Given the description of an element on the screen output the (x, y) to click on. 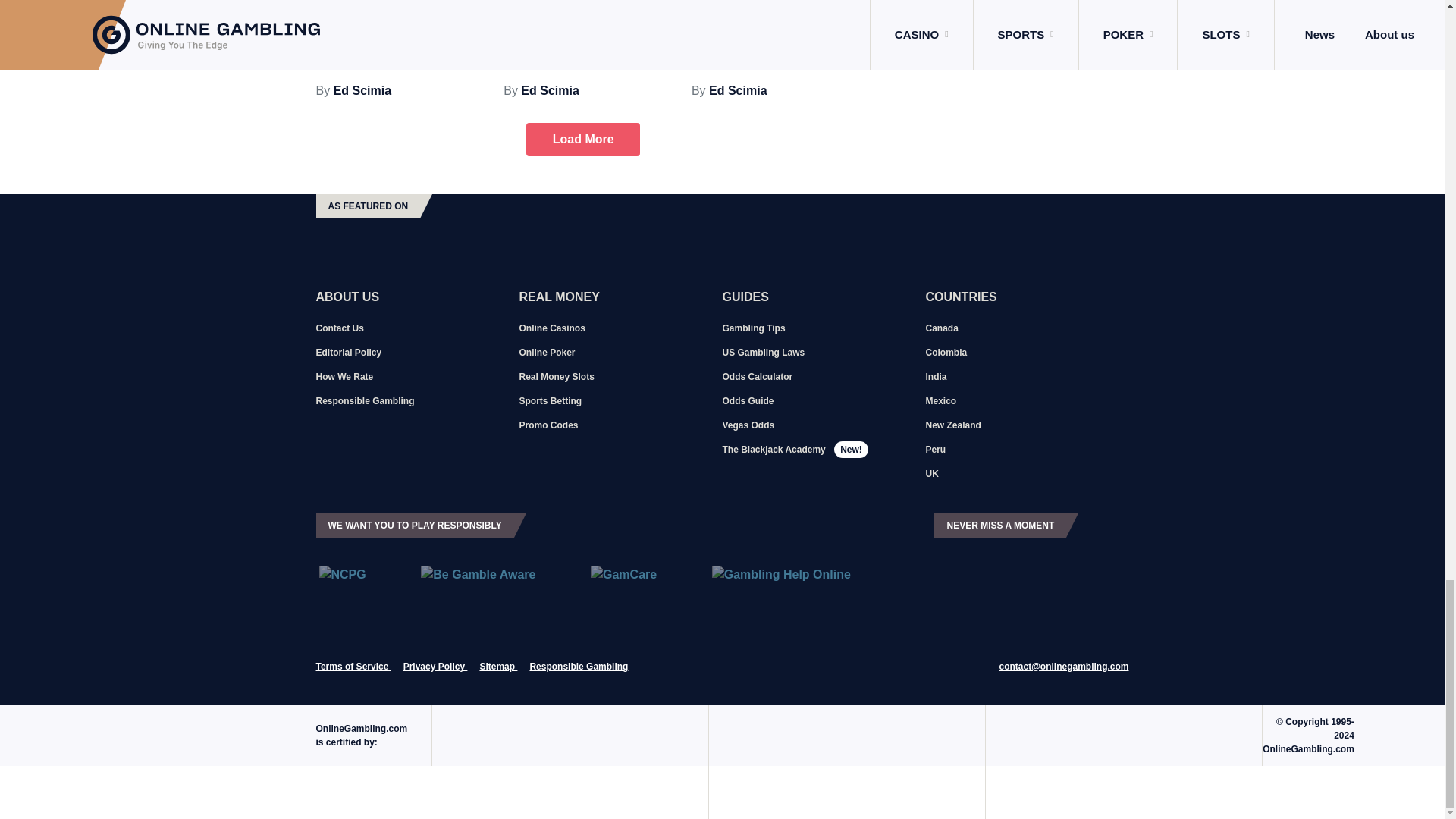
MMA (828, 1)
MMA (465, 1)
MMA (654, 1)
